Given the description of an element on the screen output the (x, y) to click on. 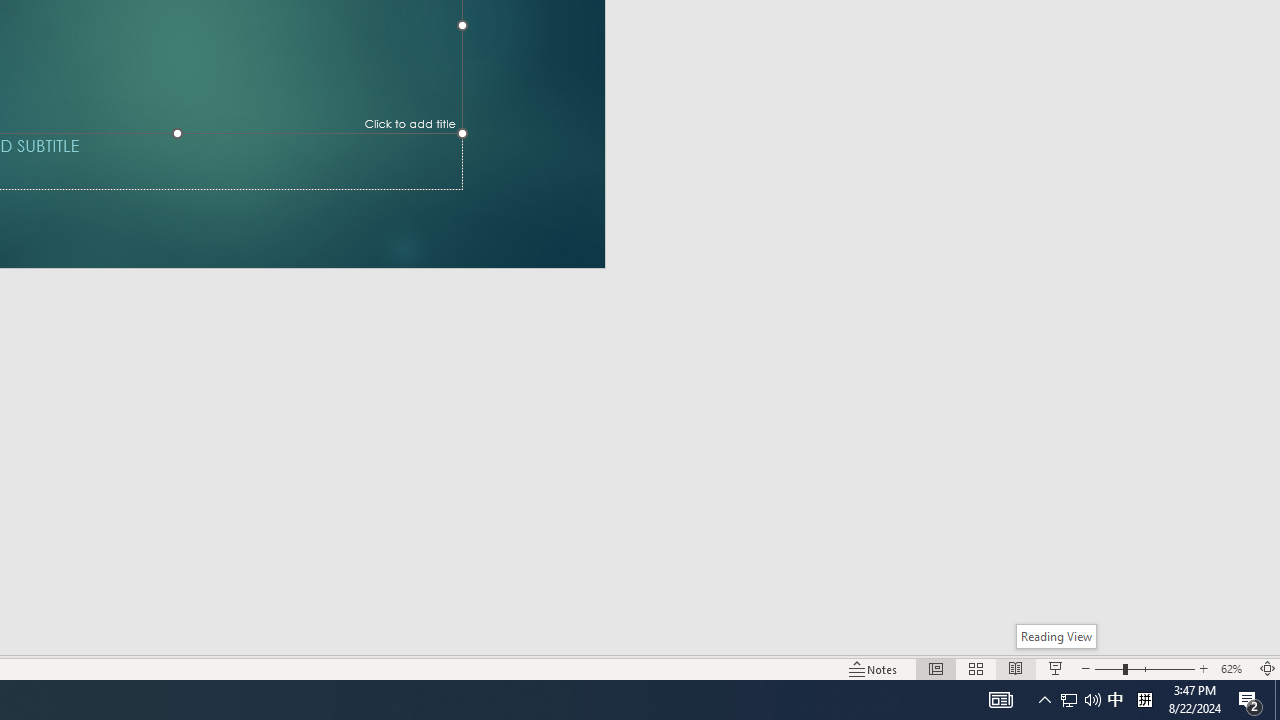
Zoom to Fit  (1267, 668)
Zoom Out (1108, 668)
Notes  (874, 668)
Zoom 62% (1234, 668)
